Given the description of an element on the screen output the (x, y) to click on. 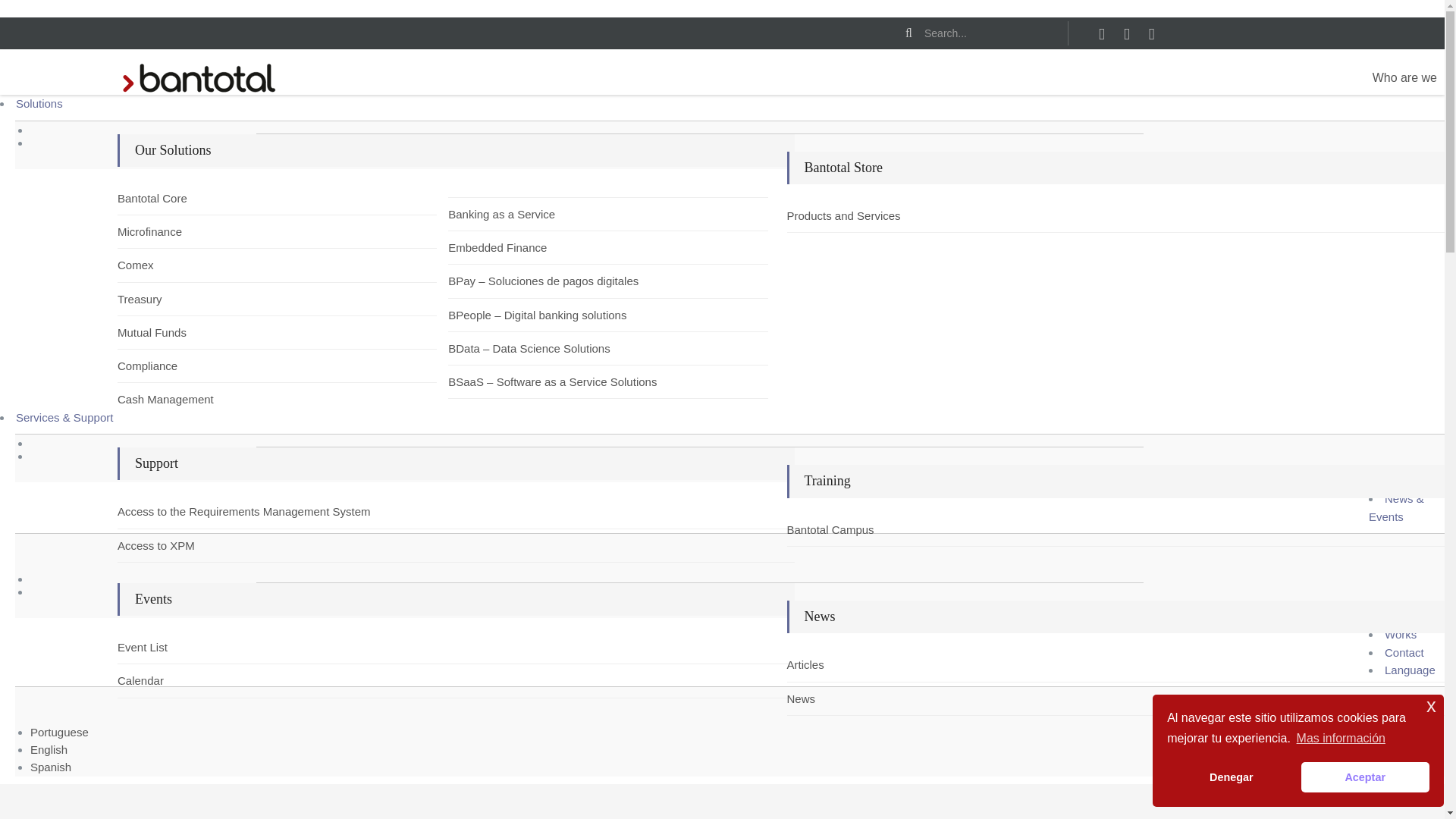
Works (1400, 634)
Language (1409, 669)
Banking as a Service (493, 213)
Cash Management (162, 398)
Who are we (1405, 78)
Products and Services (832, 215)
Treasury (162, 298)
Bantotal Core (162, 198)
Comex (162, 264)
Microfinance (162, 231)
Bantotal Campus (832, 529)
Calendar (162, 680)
Embedded Finance (493, 247)
Solutions (39, 103)
Event List (162, 647)
